Given the description of an element on the screen output the (x, y) to click on. 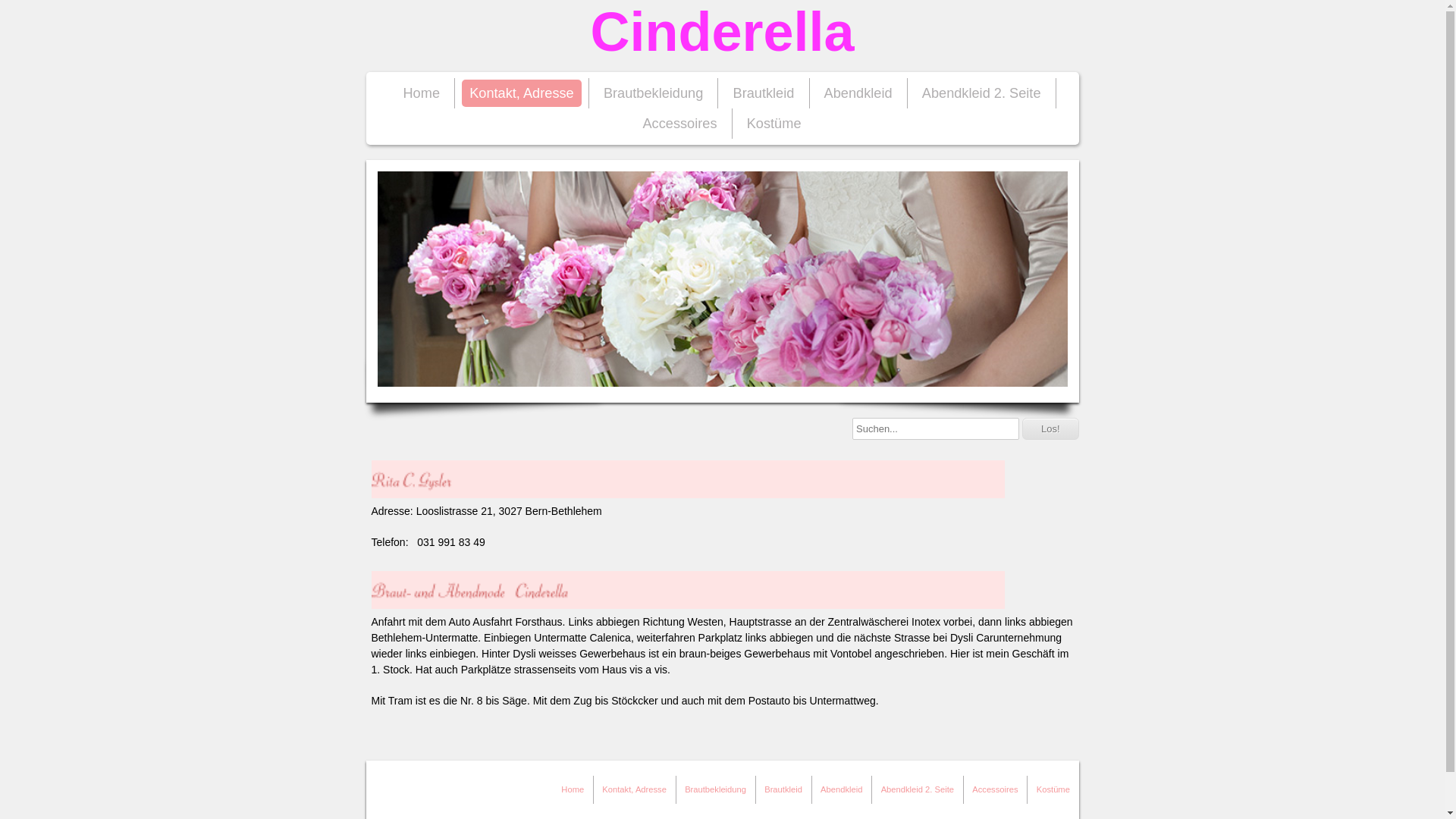
Home Element type: text (572, 789)
Kontakt, Adresse Element type: text (521, 92)
Abendkleid 2. Seite Element type: text (917, 789)
Brautbekleidung Element type: text (715, 789)
Brautkleid Element type: text (782, 789)
Brautkleid Element type: text (763, 92)
Brautbekleidung Element type: text (653, 92)
Cinderella Element type: text (721, 36)
Home Element type: text (421, 92)
Abendkleid Element type: text (840, 789)
Abendkleid Element type: text (858, 92)
Accessoires Element type: text (679, 123)
Los! Element type: text (1050, 428)
Accessoires Element type: text (994, 789)
Abendkleid 2. Seite Element type: text (981, 92)
Kontakt, Adresse Element type: text (634, 789)
